Given the description of an element on the screen output the (x, y) to click on. 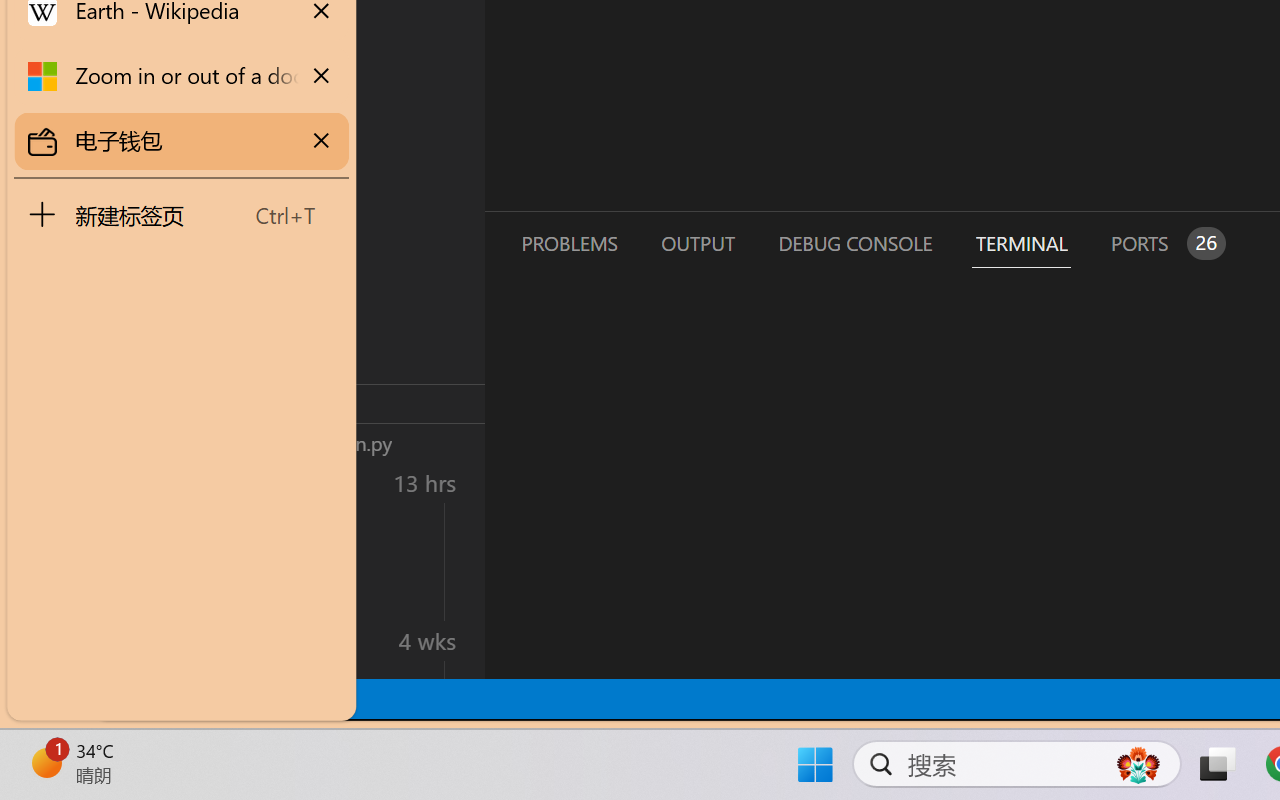
remote (122, 698)
Manage (135, 591)
Terminal (Ctrl+`) (1021, 243)
Ports - 26 forwarded ports (1165, 243)
Timeline Section (331, 442)
Manage (135, 635)
Outline Section (331, 403)
